Given the description of an element on the screen output the (x, y) to click on. 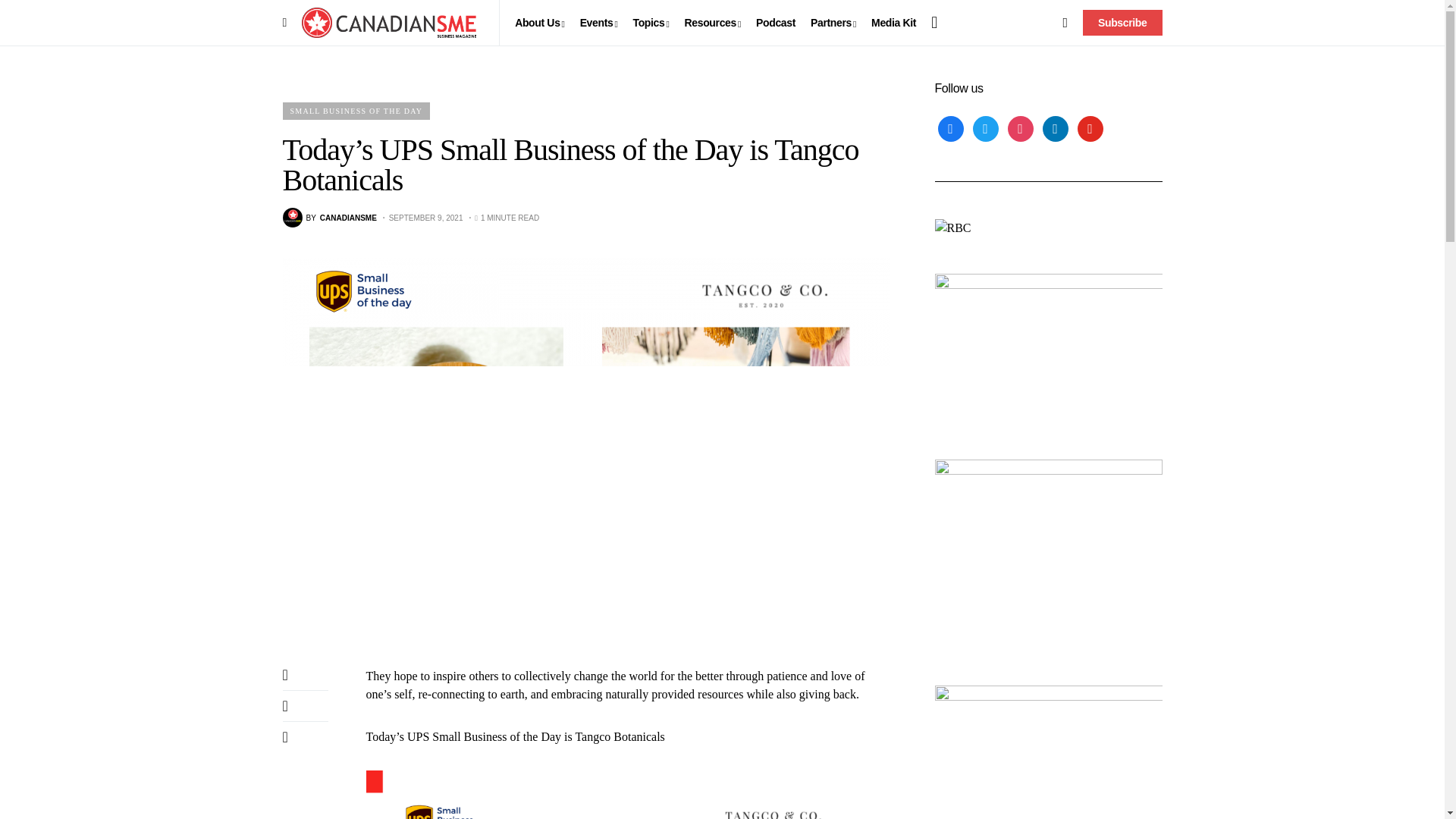
View all posts by CanadianSME (328, 217)
Facebook (949, 127)
Twitter (984, 127)
